Given the description of an element on the screen output the (x, y) to click on. 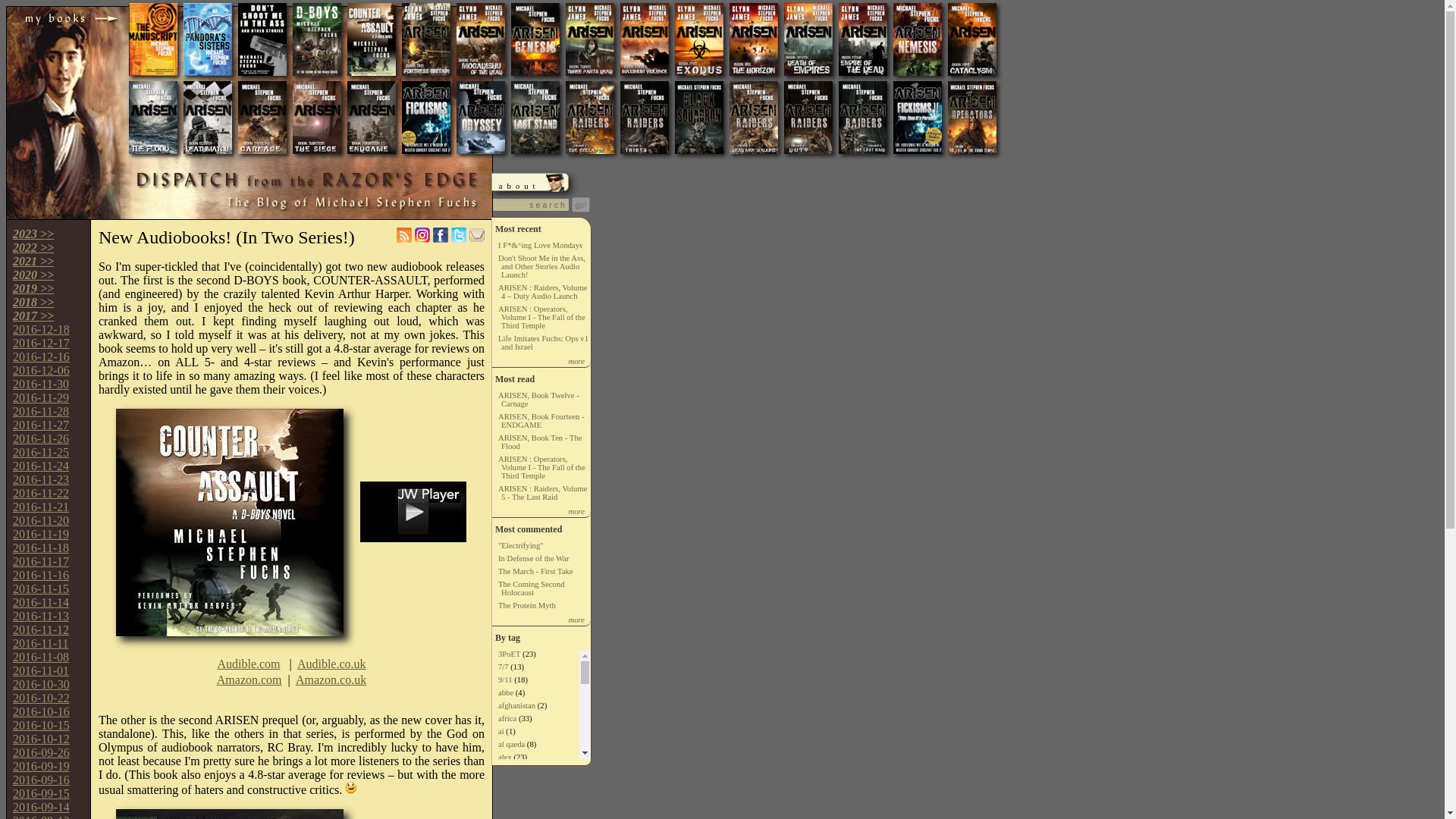
2016-11-21 (40, 506)
2016-10-30 (41, 684)
go! (580, 204)
2016-11-13 (40, 615)
2016-11-12 (40, 629)
2016-11-24 (40, 465)
Follow on Twitter (458, 237)
2016-12-16 (41, 356)
2016-11-25 (40, 451)
2016-11-01 (40, 670)
 s e a r c h  (531, 204)
2016-11-23 (40, 479)
Follow on Google Plus (421, 237)
2016-11-15 (40, 588)
2016-11-26 (40, 438)
